Given the description of an element on the screen output the (x, y) to click on. 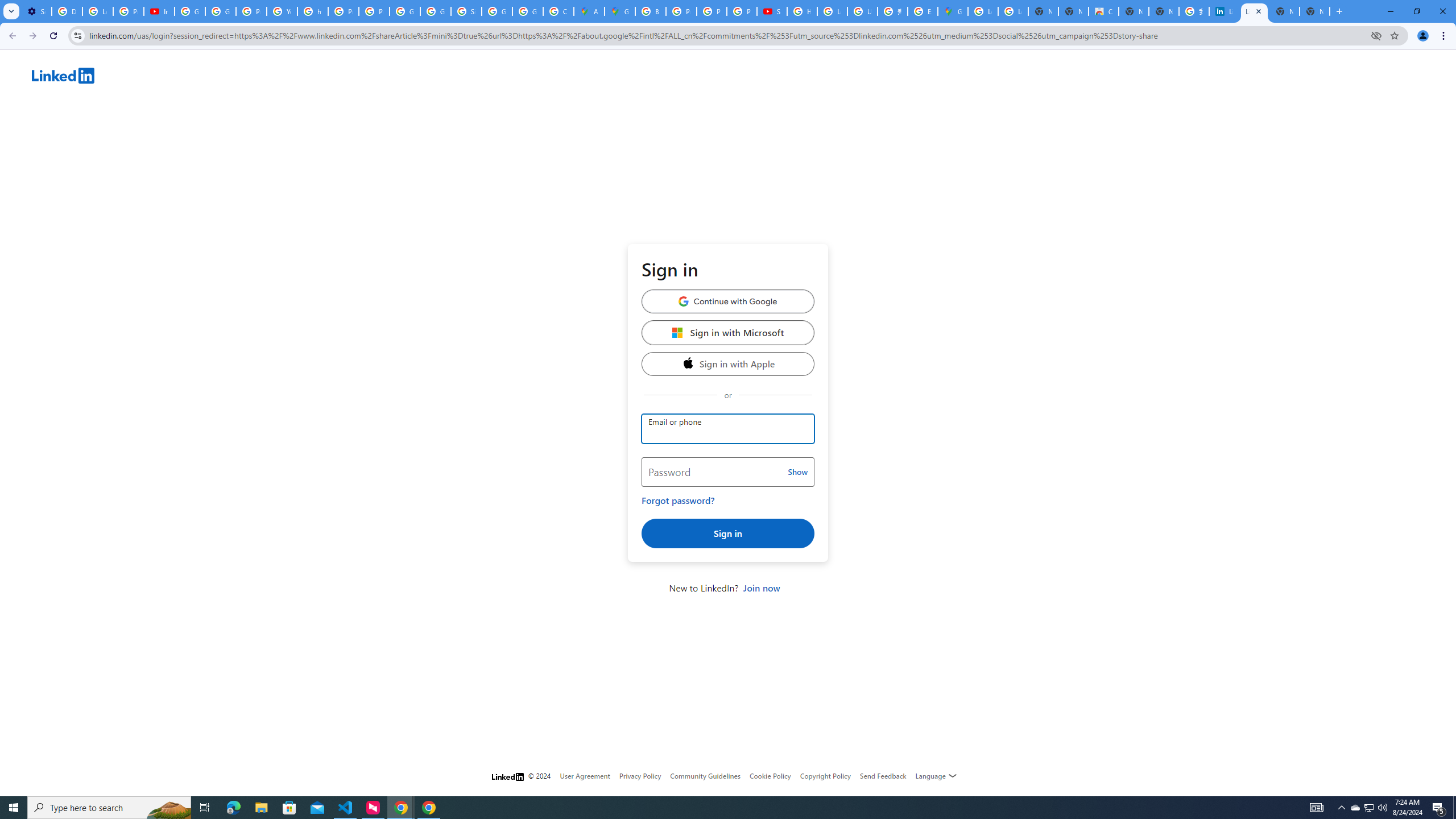
User Agreement (584, 775)
LinkedIn (744, 76)
Language (935, 775)
Copyright Policy (824, 775)
Privacy Help Center - Policies Help (251, 11)
Google Maps (952, 11)
New Tab (1314, 11)
Email or phone (727, 428)
